Given the description of an element on the screen output the (x, y) to click on. 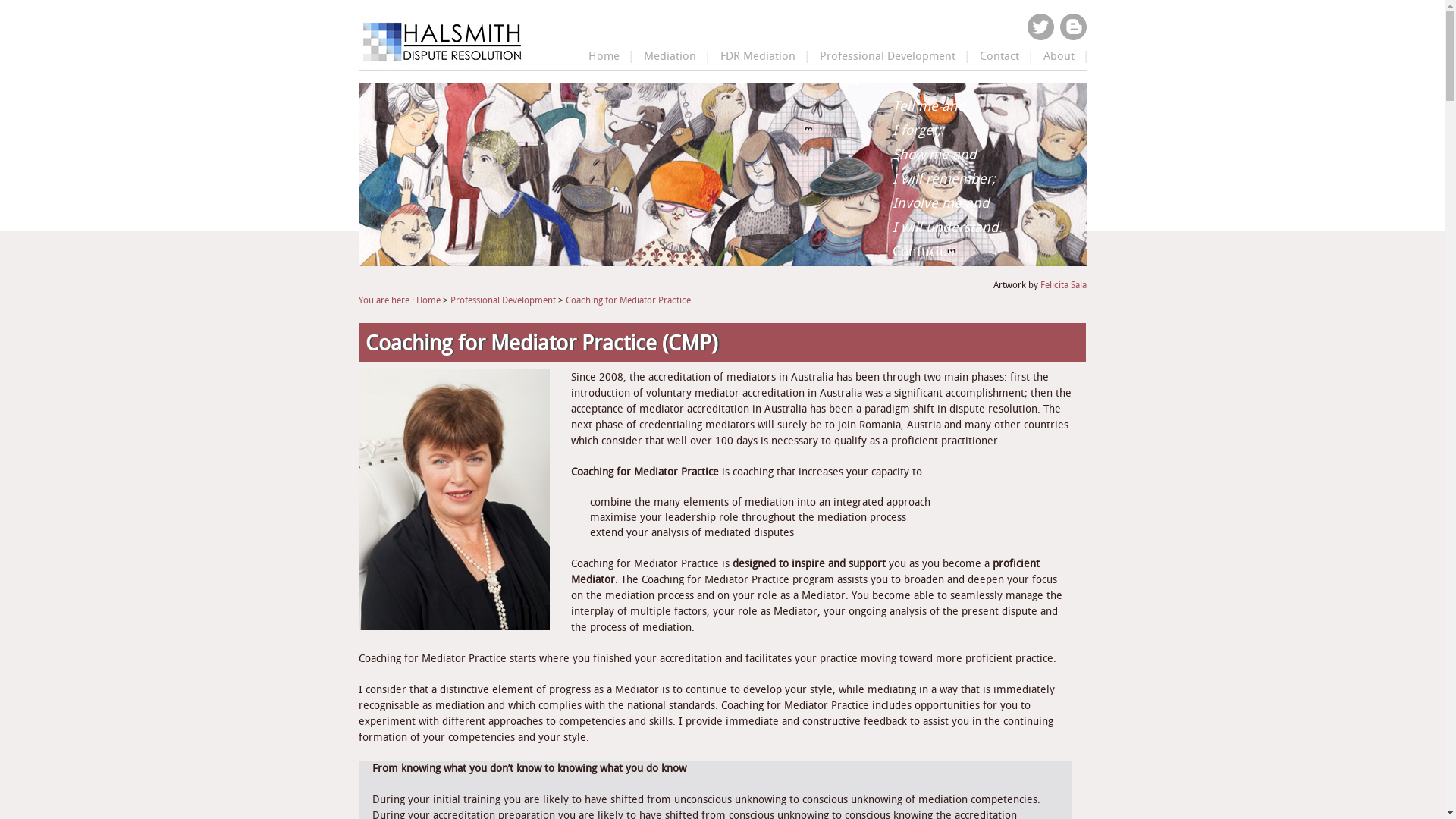
Contact Element type: text (999, 59)
About Element type: text (1058, 59)
Mediation Element type: text (669, 59)
Professional Development Element type: text (502, 299)
FDR Mediation Element type: text (757, 59)
Professional Development Element type: text (886, 59)
You are here : Home Element type: text (398, 299)
Felicita Sala Element type: text (1063, 284)
Home Element type: text (603, 59)
Coaching for Mediator Practice Element type: text (627, 299)
